Given the description of an element on the screen output the (x, y) to click on. 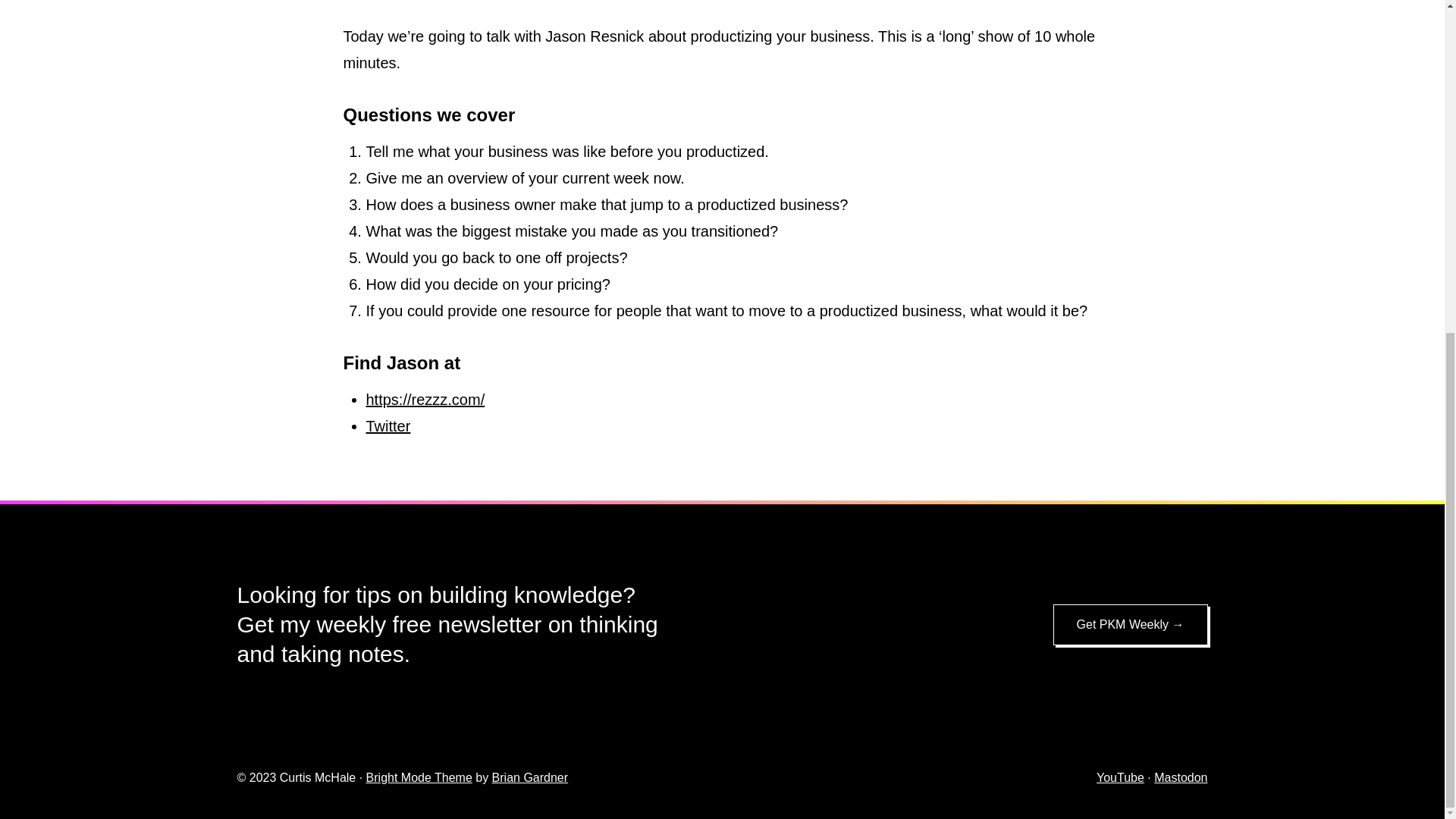
Bright Mode Theme (418, 777)
Brian Gardner (530, 777)
Mastodon (1180, 777)
Twitter (387, 425)
YouTube (1120, 777)
